Given the description of an element on the screen output the (x, y) to click on. 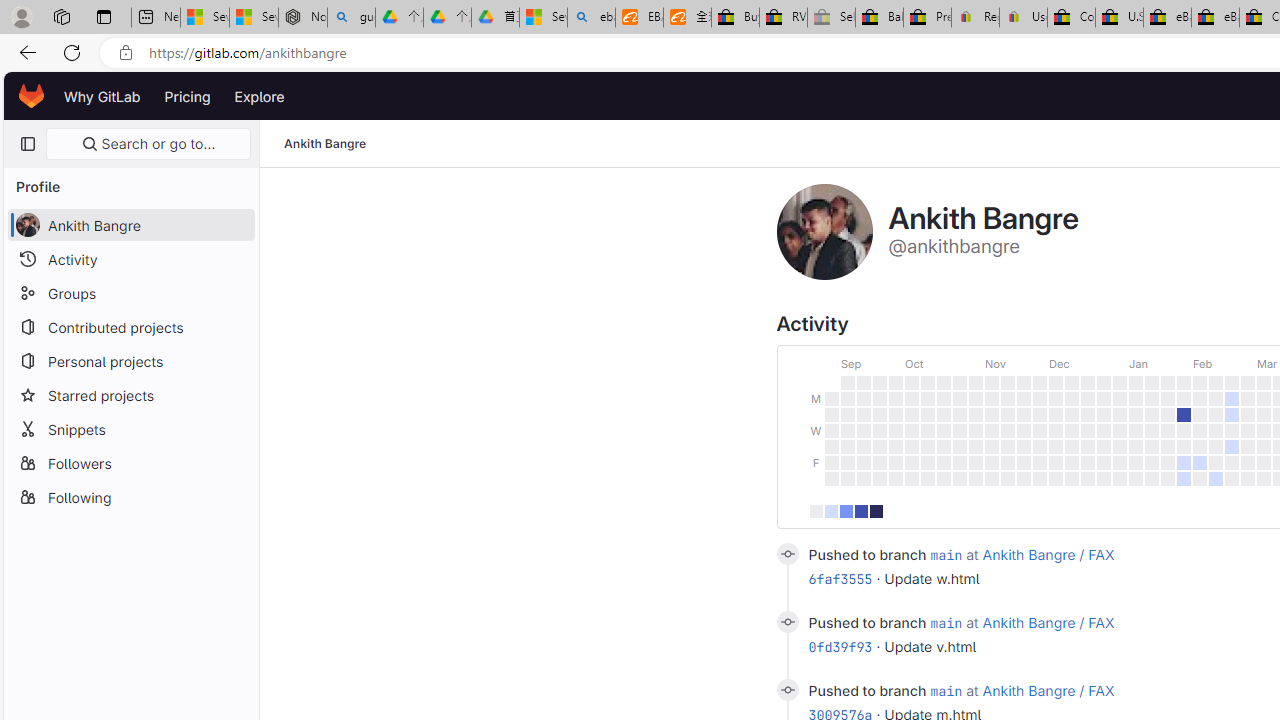
Activity (130, 259)
Personal projects (130, 360)
